Given the description of an element on the screen output the (x, y) to click on. 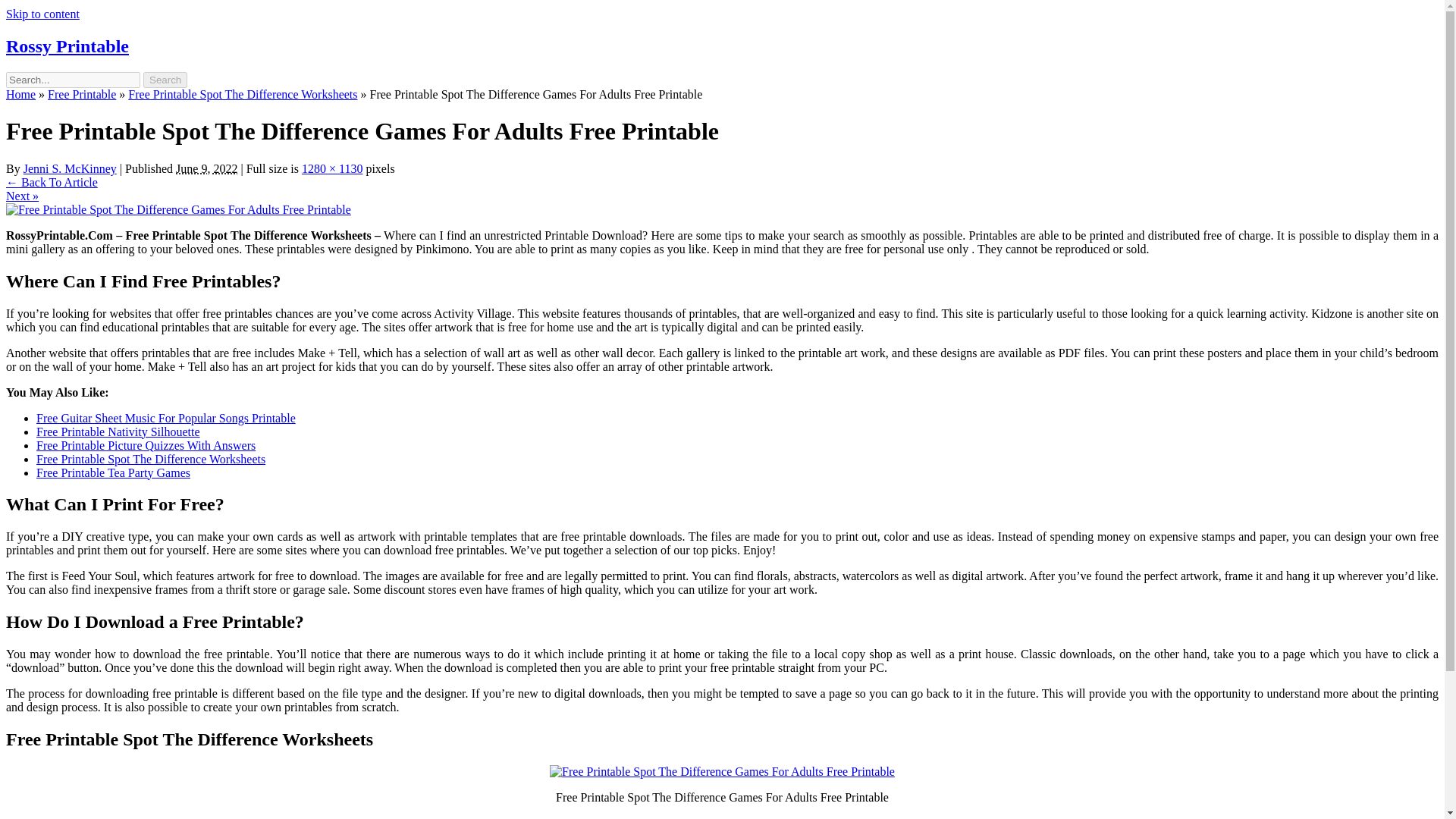
Home (19, 93)
Free Printable Picture Quizzes With Answers (146, 444)
Return to Free Printable Spot The Difference Worksheets (51, 182)
Free Printable (82, 93)
Free Printable Tea Party Games (113, 472)
Search (164, 79)
Rossy Printable (67, 46)
View all posts by Jenni S. McKinney (69, 168)
Jenni S. McKinney (69, 168)
Search (164, 79)
